Given the description of an element on the screen output the (x, y) to click on. 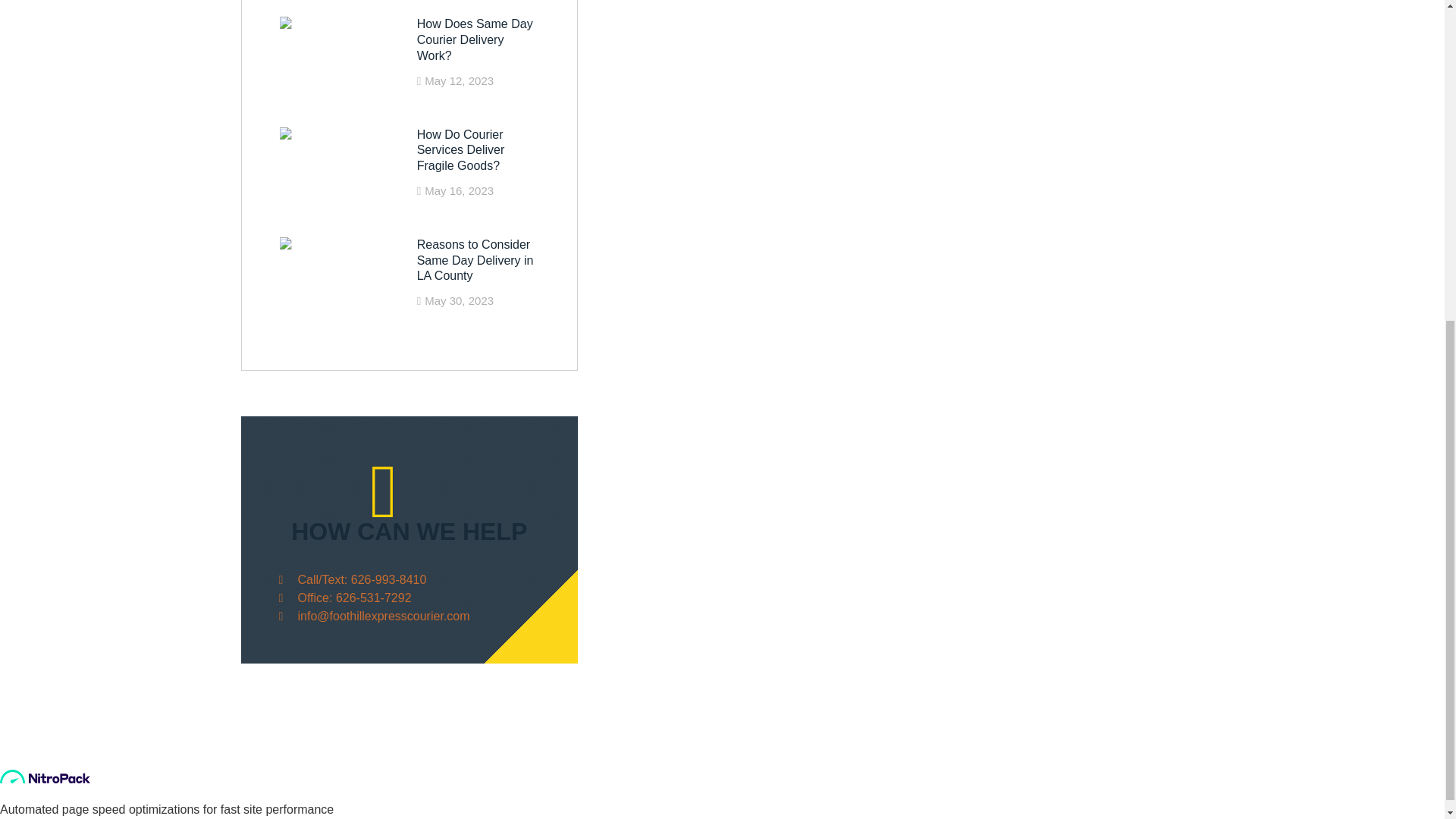
How Does Same Day Courier Delivery Work? 1 (344, 54)
Reasons to Consider Same Day Delivery in LA County 3 (344, 274)
How Does Same Day Courier Delivery Work? (474, 39)
How Do Courier Services Deliver Fragile Goods? 2 (344, 165)
